Given the description of an element on the screen output the (x, y) to click on. 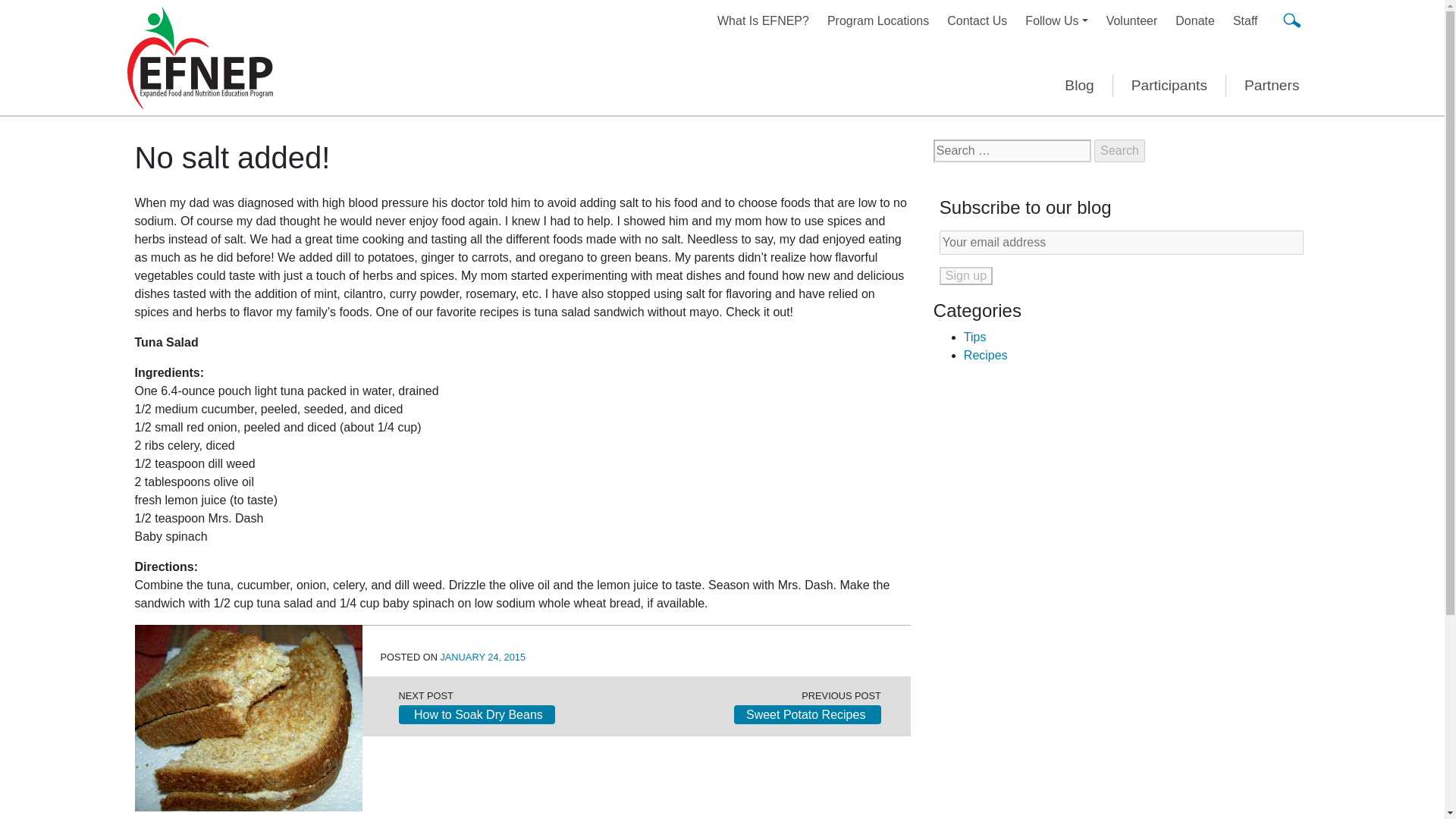
Search (1119, 150)
 How to Soak Dry Beans (476, 714)
Follow Us (1056, 20)
Program Locations (877, 20)
Blog (1079, 86)
Contact Us (976, 20)
Donate (1195, 20)
JANUARY 24, 2015 (482, 656)
Participants (1169, 86)
What Is EFNEP? (762, 20)
